Given the description of an element on the screen output the (x, y) to click on. 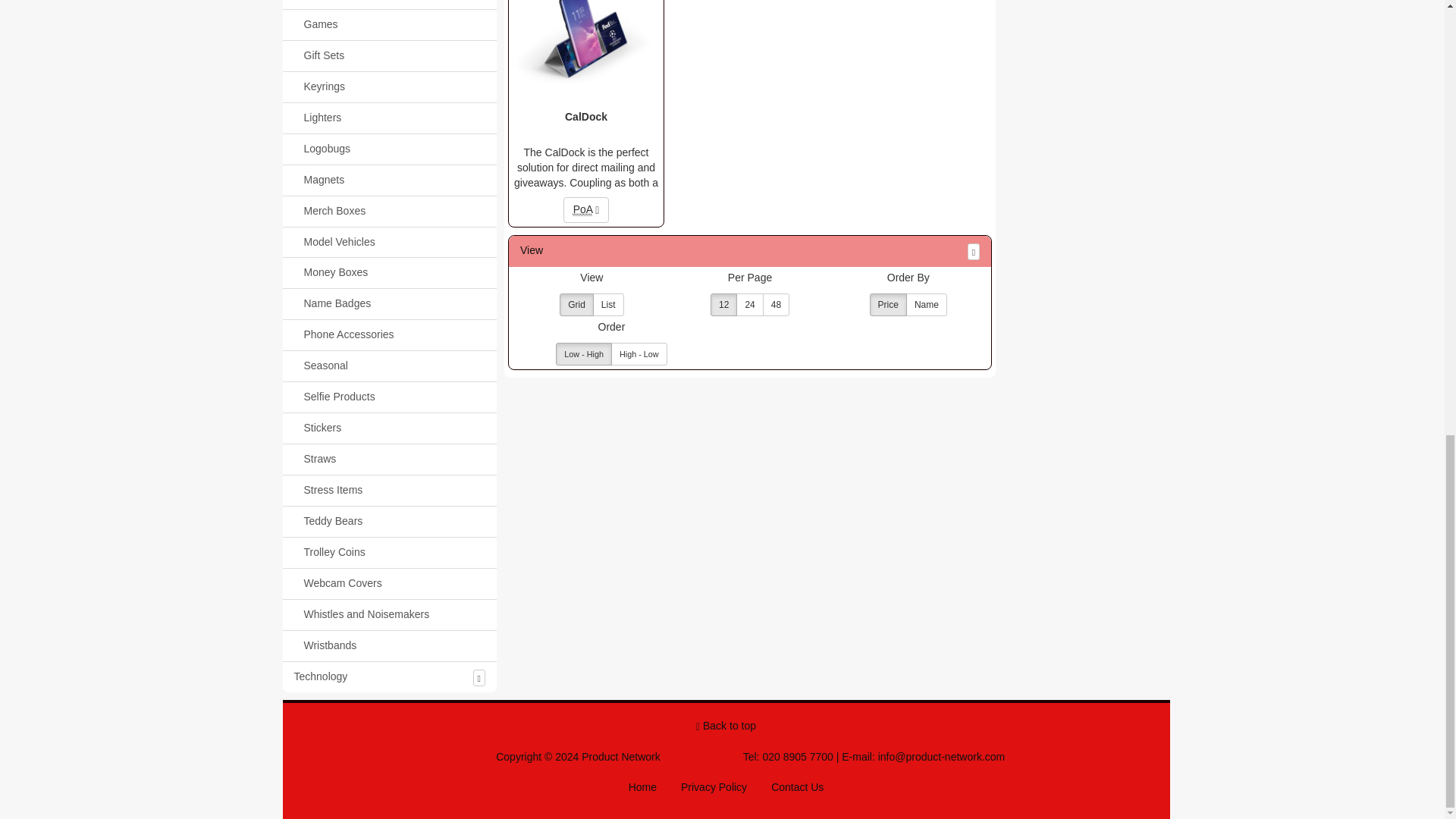
Order by List (608, 304)
Arrange by Price (888, 304)
Grid (576, 304)
Price on Application (582, 209)
Arrange by Name (926, 304)
Order by Low - High (583, 354)
Order by Grid (576, 304)
PoA (586, 209)
CalDock (585, 125)
Order by High - Low (638, 354)
